Given the description of an element on the screen output the (x, y) to click on. 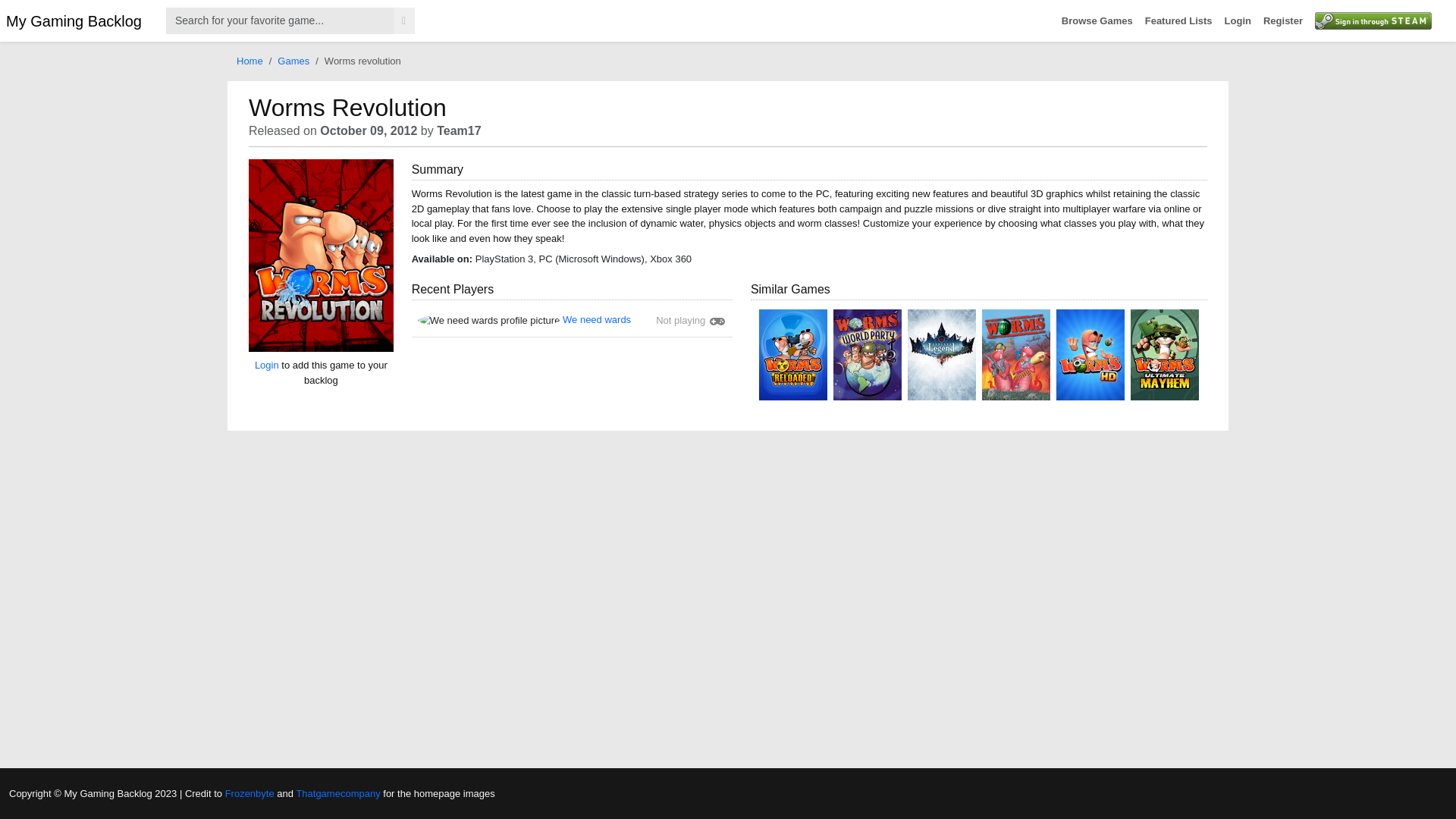
Thatgamecompany (337, 792)
Login (266, 365)
Frozenbyte (250, 792)
Games (293, 60)
Featured Lists (1178, 20)
My Gaming Backlog (73, 20)
Browse Games (1096, 20)
Home (249, 60)
We need wards (596, 319)
Login (1237, 20)
